Given the description of an element on the screen output the (x, y) to click on. 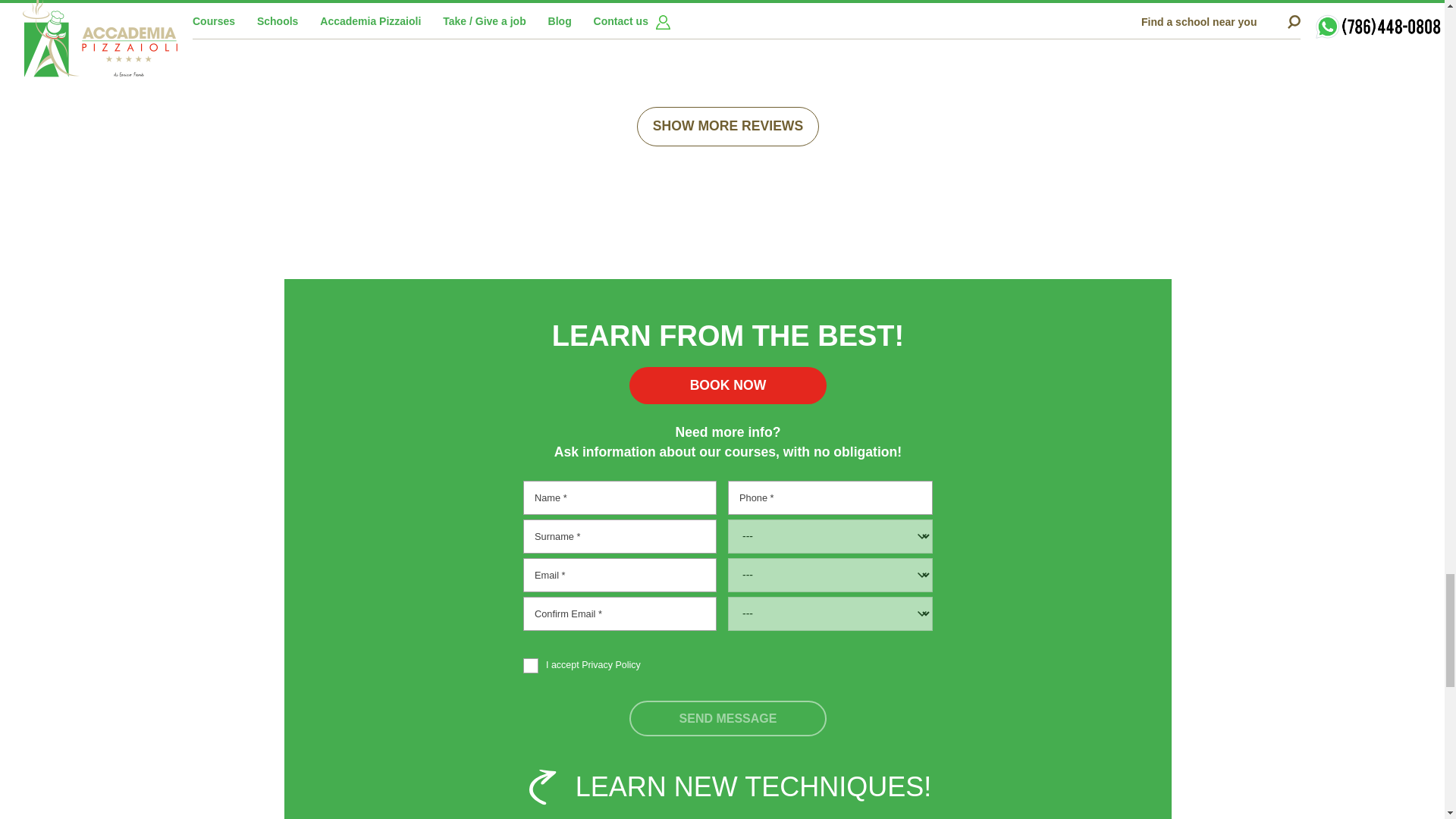
Send message (727, 718)
BOOK NOW (727, 385)
Send message (727, 718)
